Given the description of an element on the screen output the (x, y) to click on. 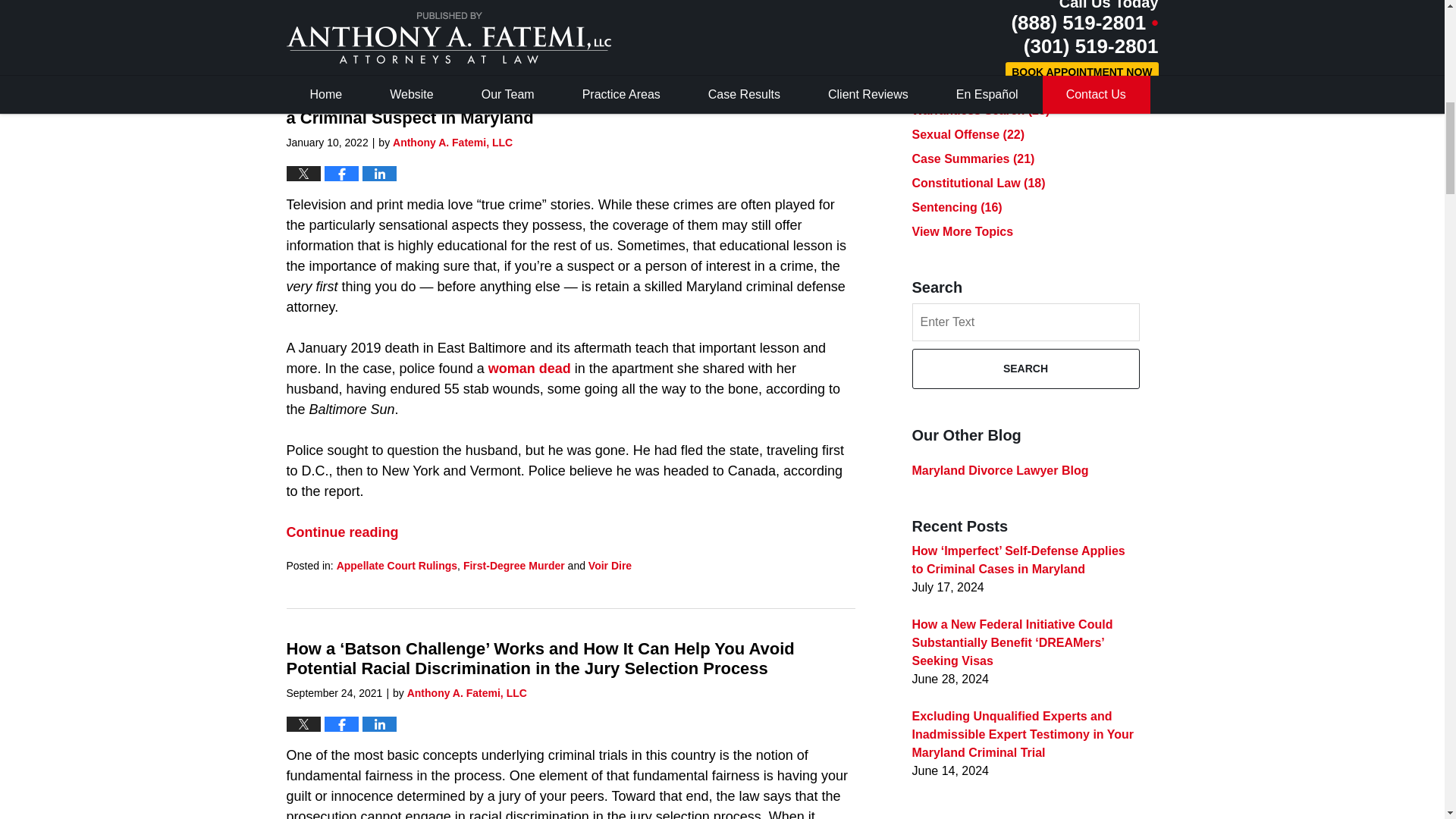
View all posts in Voir Dire (609, 565)
woman dead (528, 368)
Voir Dire (427, 15)
Anthony A. Fatemi, LLC (452, 142)
View all posts in Voir Dire (427, 15)
Case law (358, 15)
View all posts in Case law (358, 15)
View all posts in Appellate Court Rulings (396, 565)
View all posts in First-Degree Murder (513, 565)
Continue reading (342, 531)
